Given the description of an element on the screen output the (x, y) to click on. 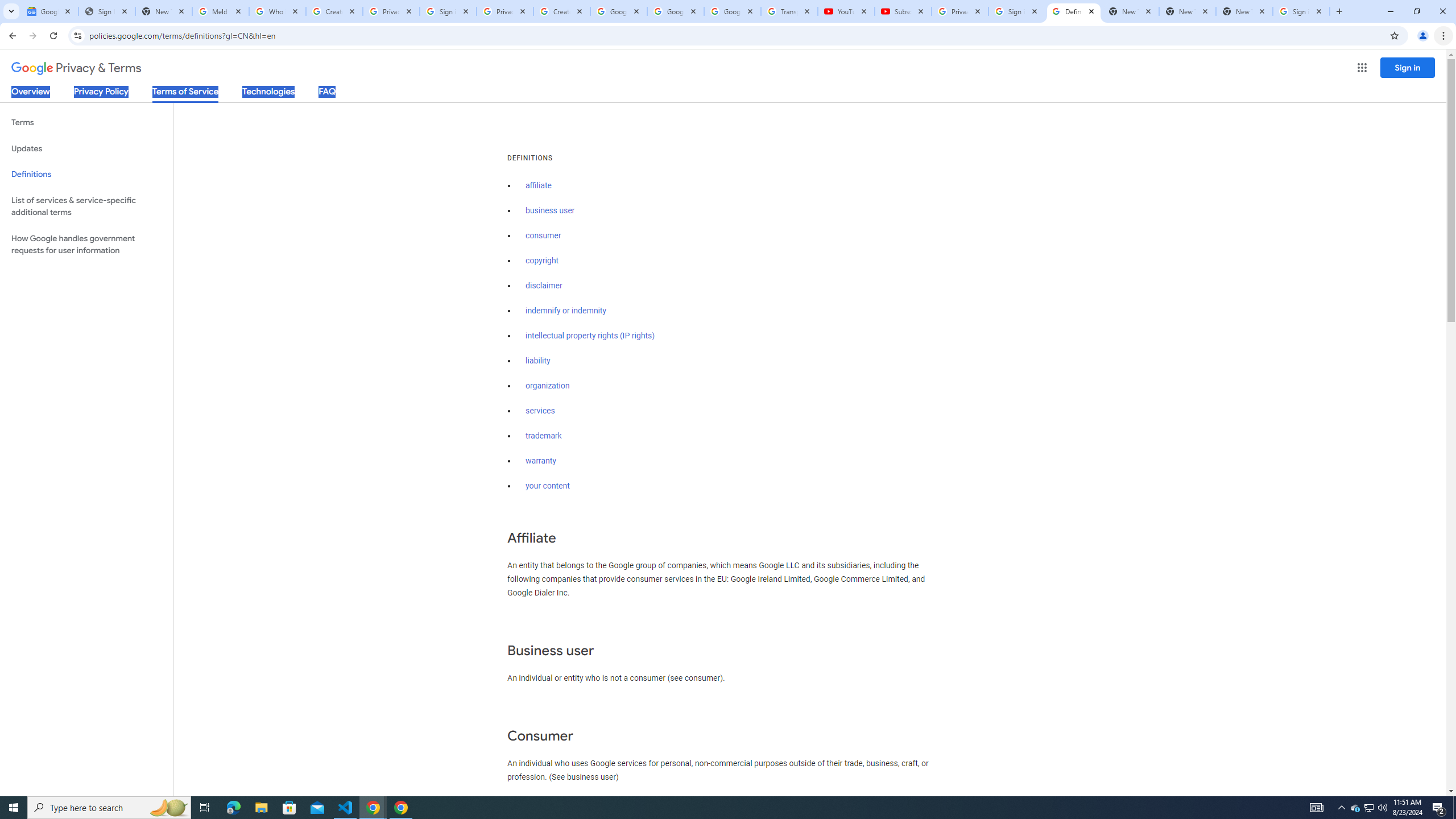
Sign in - Google Accounts (447, 11)
Google News (49, 11)
